Given the description of an element on the screen output the (x, y) to click on. 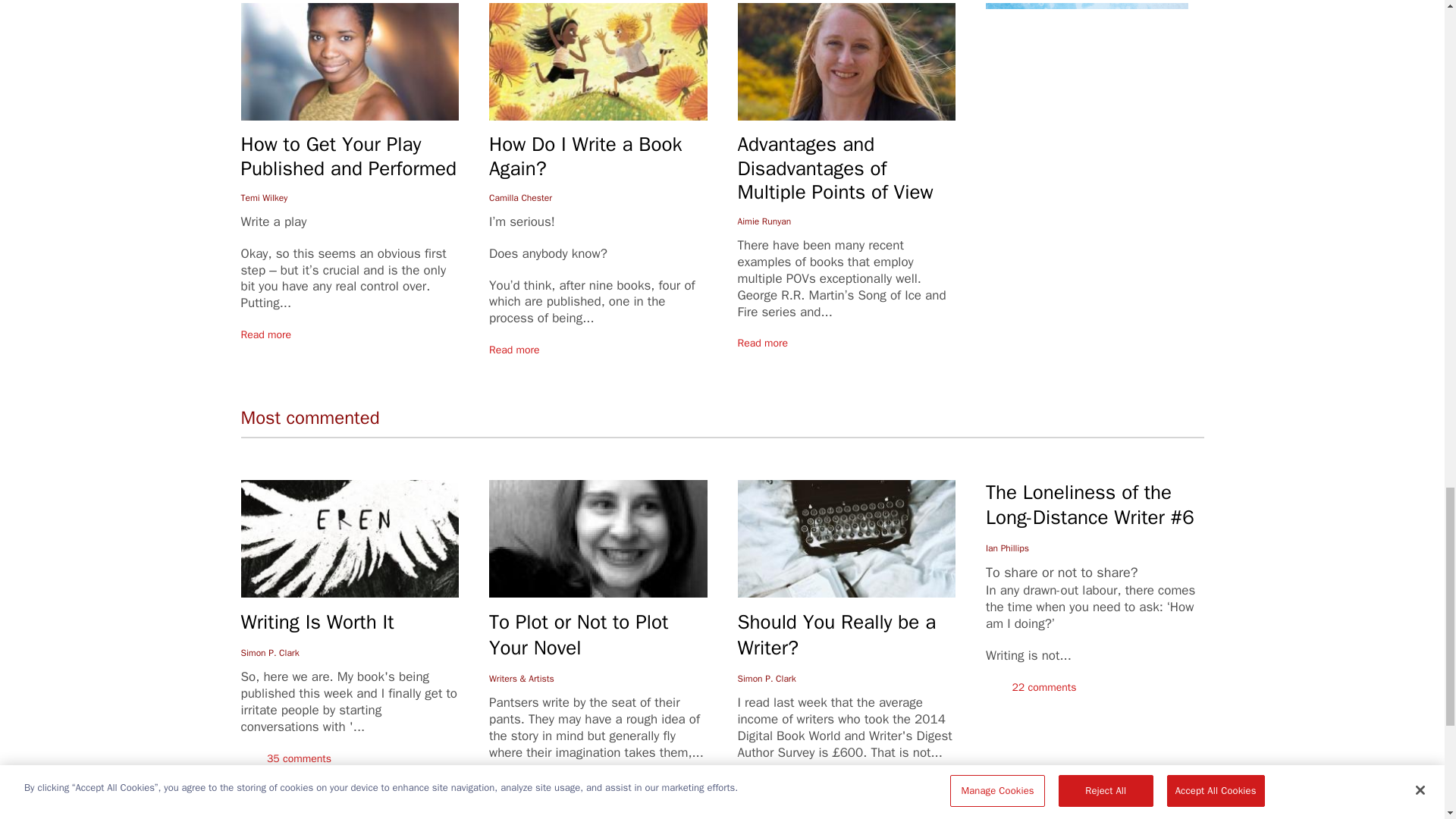
Call Me Lion by Camilla Chester (598, 61)
